Given the description of an element on the screen output the (x, y) to click on. 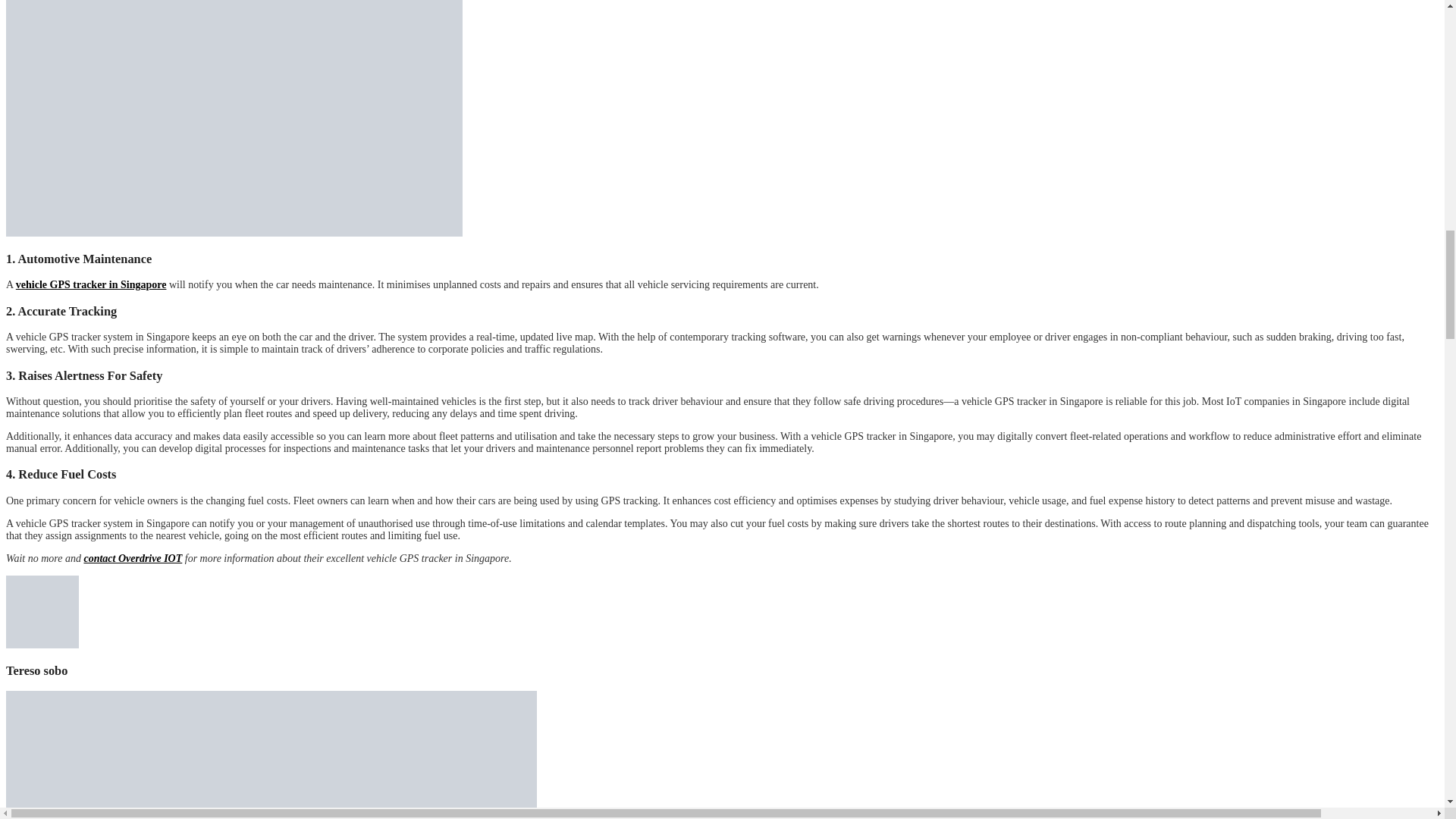
contact Overdrive IOT (132, 558)
vehicle GPS tracker in Singapore (91, 284)
